Given the description of an element on the screen output the (x, y) to click on. 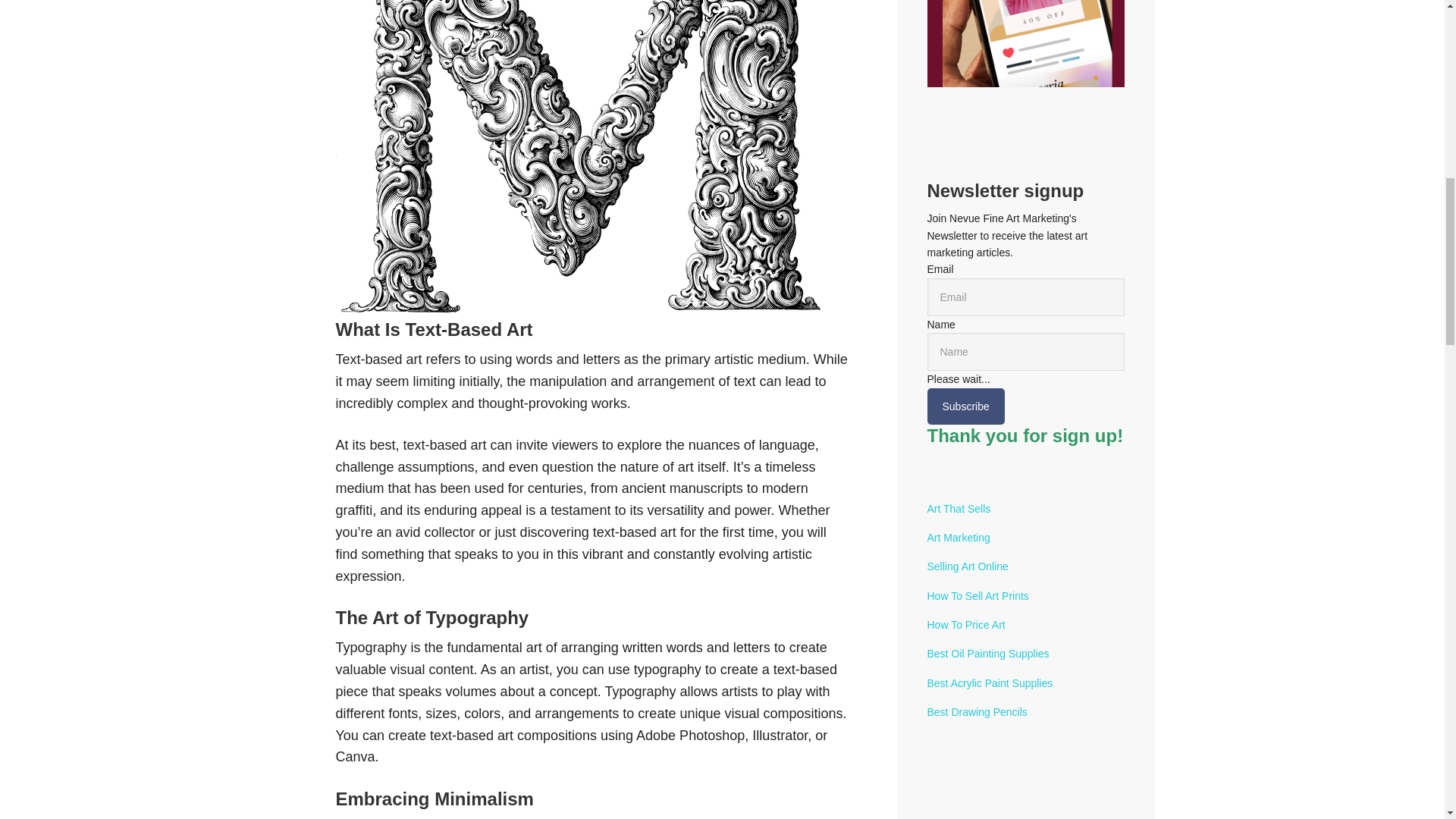
Best Drawing Pencils (976, 711)
Best Oil Painting Supplies (987, 653)
How To Sell Art Prints (976, 595)
How To Price Art (965, 624)
Best Acrylic Paint Supplies (989, 683)
Selling Art Online (966, 566)
Art That Sells (958, 508)
Art Marketing (958, 537)
Subscribe (965, 406)
